Given the description of an element on the screen output the (x, y) to click on. 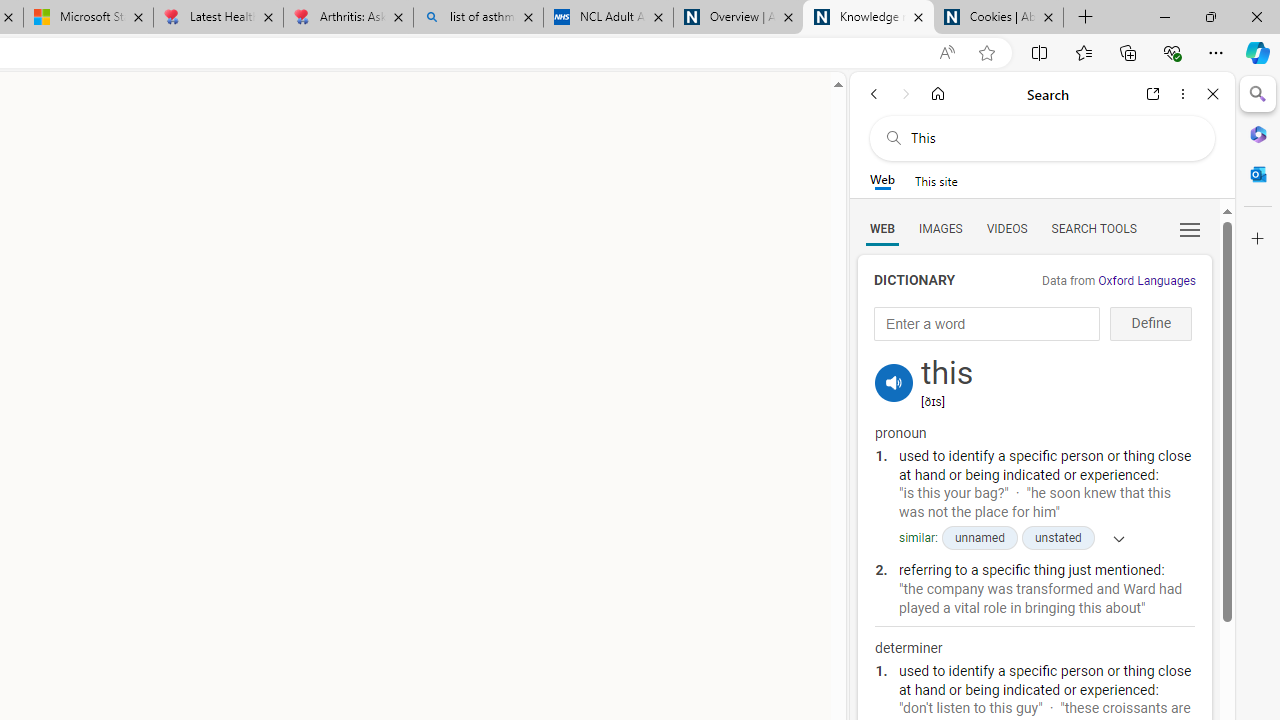
Open link in new tab (1153, 93)
Search Filter, WEB (882, 228)
IMAGES (939, 228)
More options (1182, 93)
Favorites (1083, 52)
Home (938, 93)
NCL Adult Asthma Inhaler Choice Guideline (608, 17)
Web scope (882, 180)
